Given the description of an element on the screen output the (x, y) to click on. 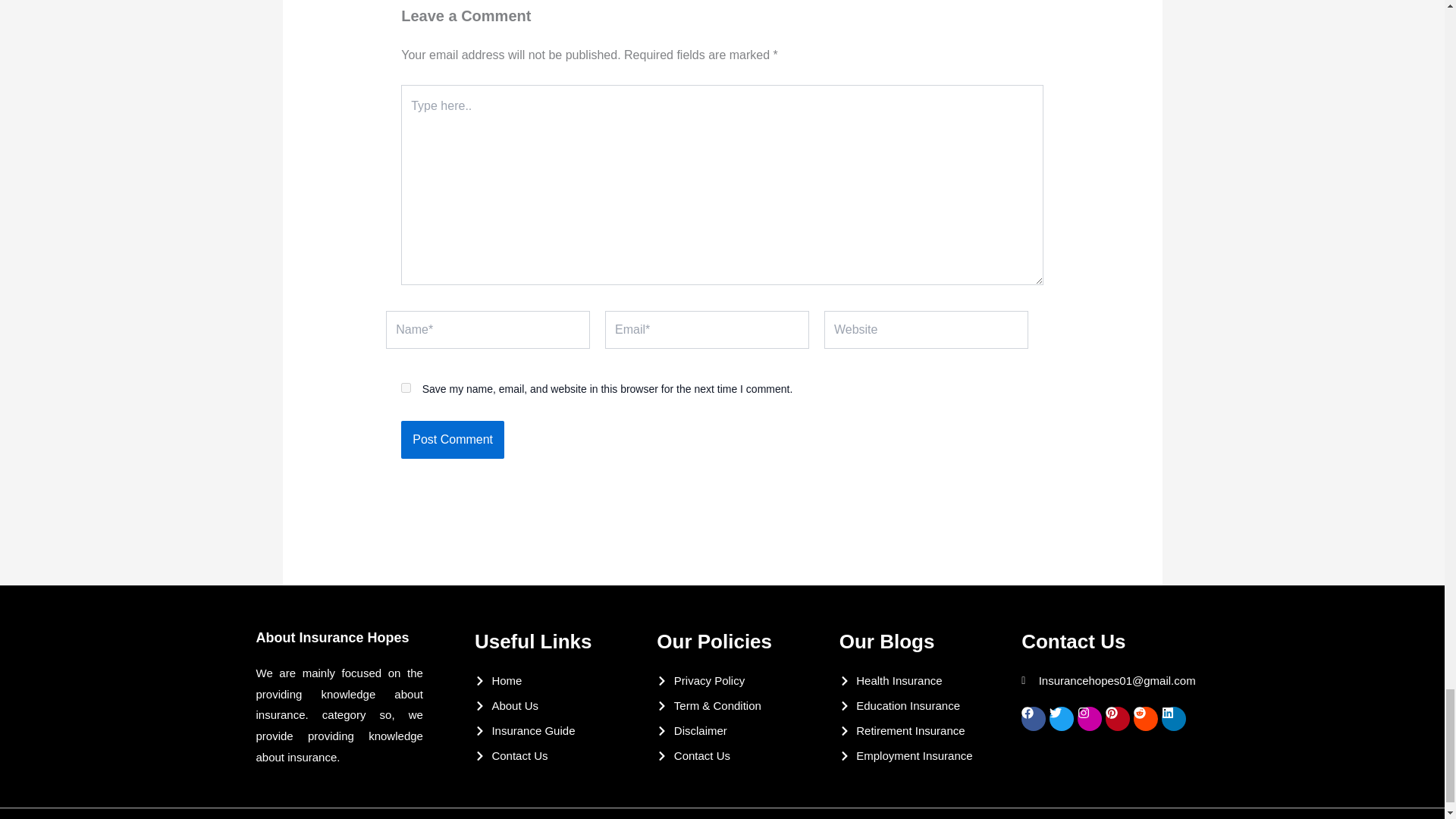
yes (405, 388)
Post Comment (452, 439)
About Insurance Hopes (332, 637)
Post Comment (452, 439)
Linkedin (1173, 718)
Reddit (1145, 718)
Twitter (1061, 718)
Facebook (1033, 718)
Instagram (1089, 718)
Pinterest (1117, 718)
